Given the description of an element on the screen output the (x, y) to click on. 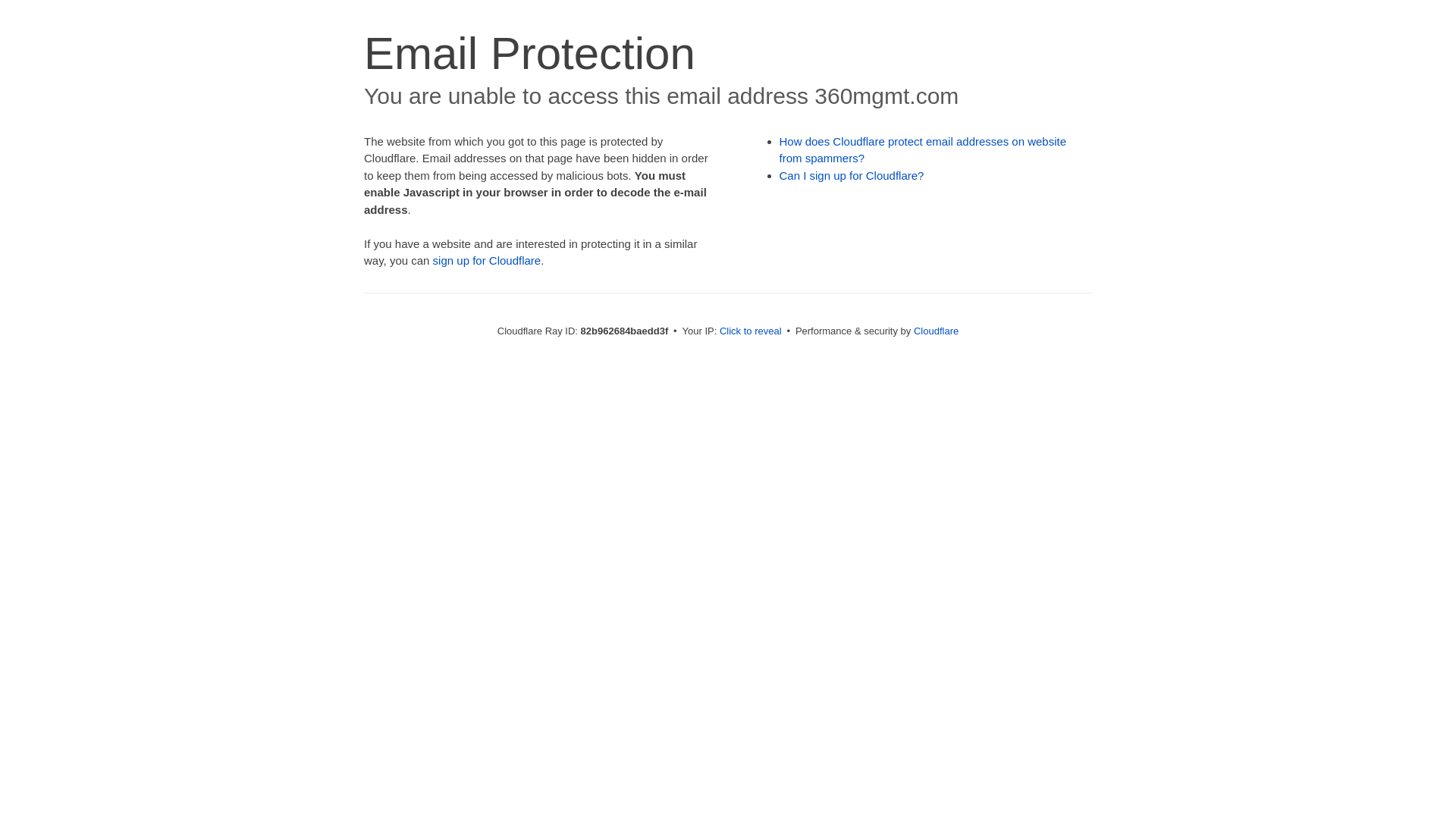
Can I sign up for Cloudflare? Element type: text (851, 175)
sign up for Cloudflare Element type: text (487, 260)
Click to reveal Element type: text (750, 330)
Cloudflare Element type: text (935, 330)
